Given the description of an element on the screen output the (x, y) to click on. 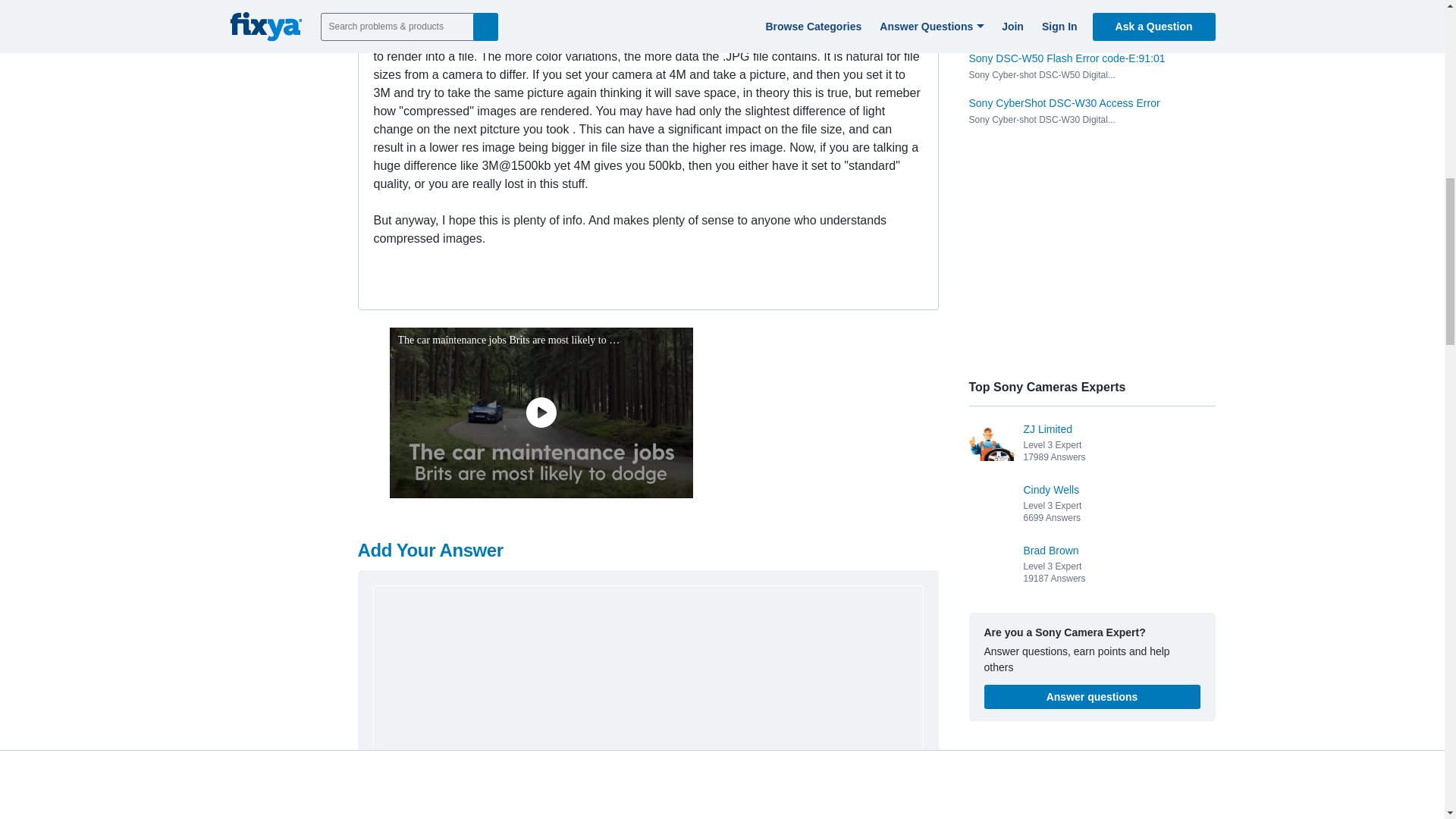
Add Answer (872, 802)
